Given the description of an element on the screen output the (x, y) to click on. 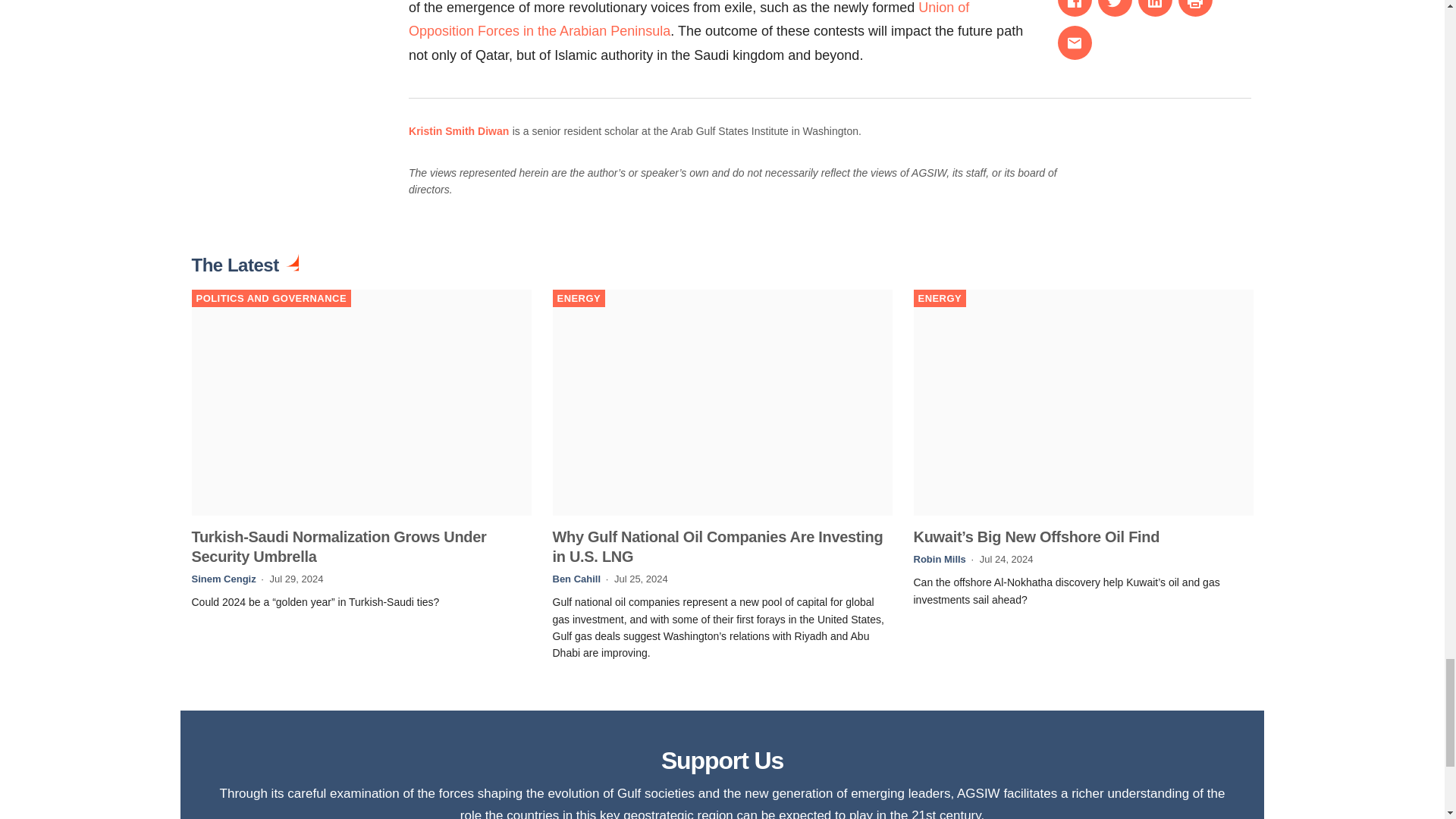
Click to share on Twitter (1114, 8)
Click to share on Facebook (1075, 8)
